Given the description of an element on the screen output the (x, y) to click on. 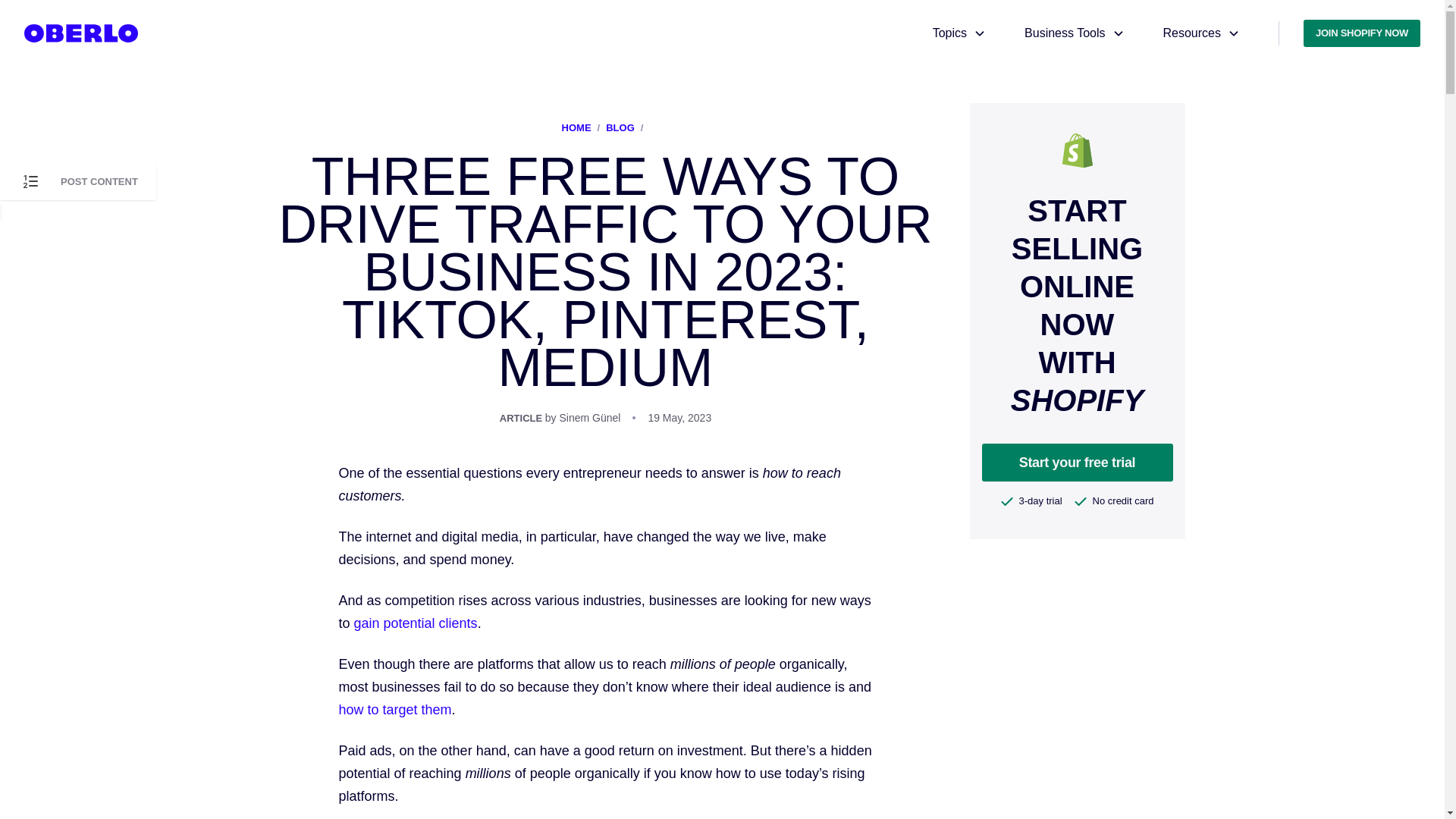
JOIN SHOPIFY NOW (1362, 32)
HOME (576, 127)
